Given the description of an element on the screen output the (x, y) to click on. 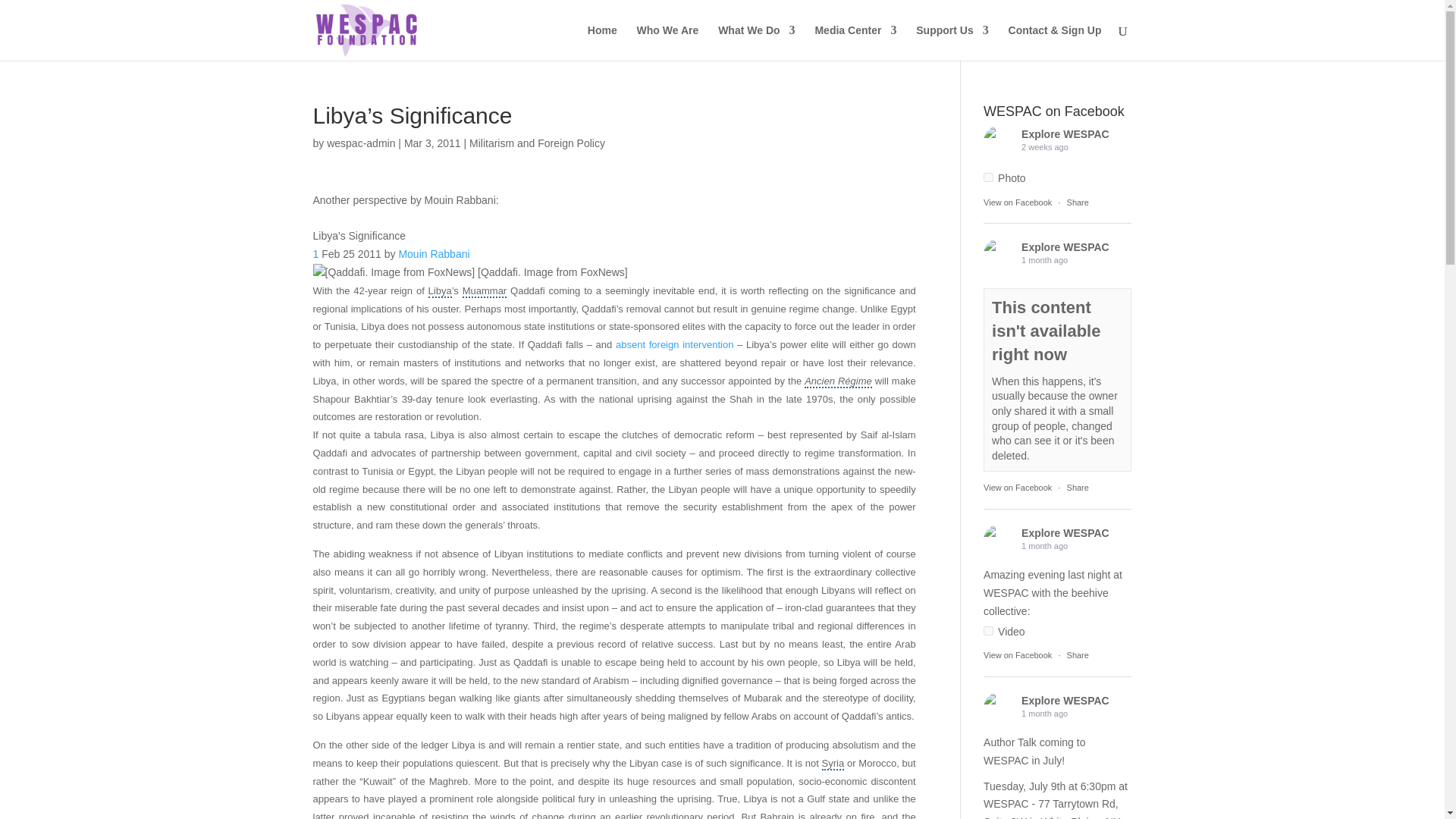
What We Do (755, 42)
Share (1078, 202)
View on Facebook (1017, 202)
Who We Are (667, 42)
Explore WESPAC (998, 539)
Explore WESPAC (1065, 246)
Share (1078, 487)
Militarism and Foreign Policy (536, 143)
Media Center (854, 42)
wespac-admin (360, 143)
Explore WESPAC (998, 141)
Explore WESPAC (998, 254)
Explore WESPAC (998, 707)
absent foreign intervention (674, 344)
Posts by wespac-admin (360, 143)
